Given the description of an element on the screen output the (x, y) to click on. 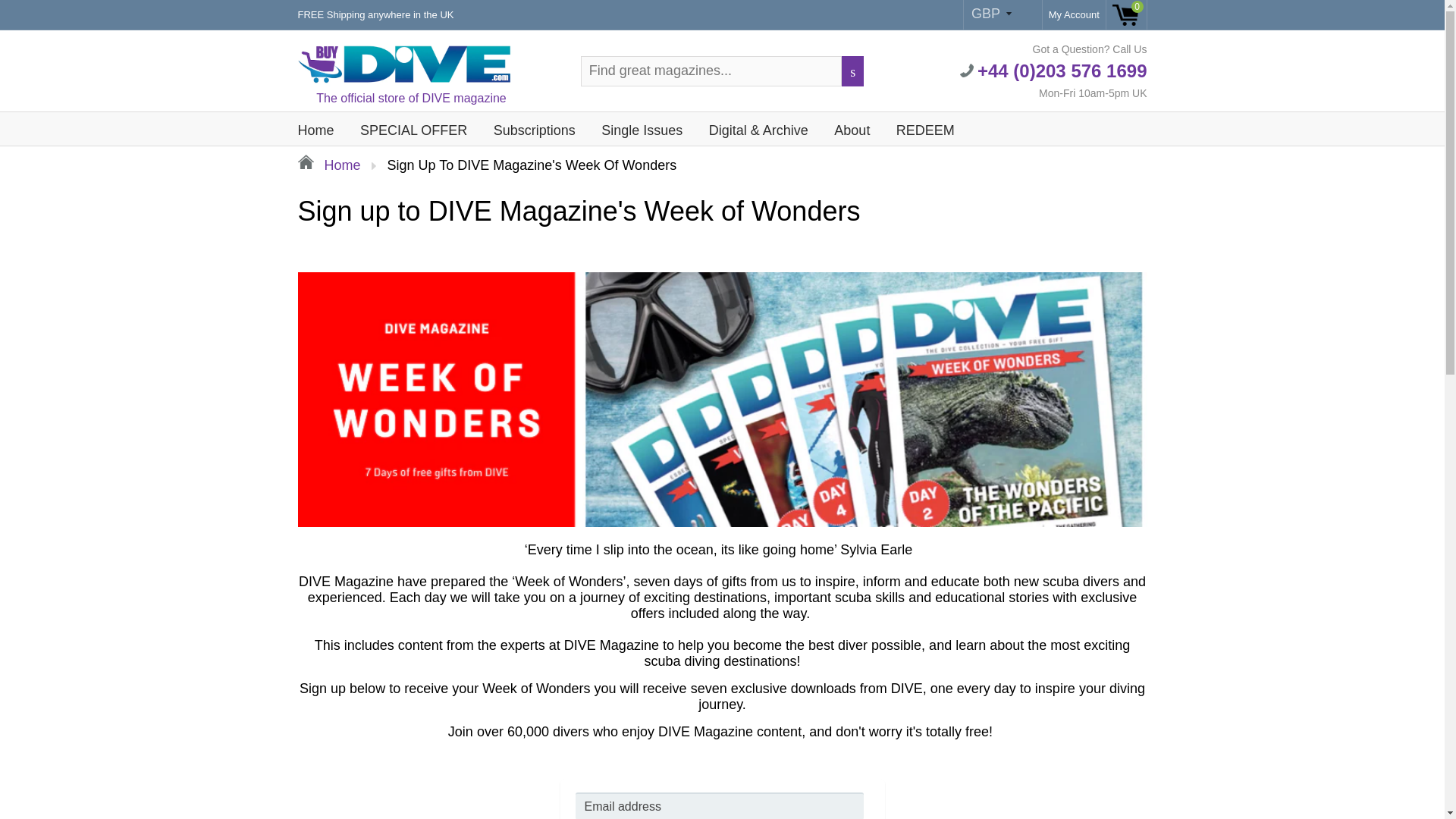
Home (316, 126)
REDEEM (925, 126)
FREE Shipping anywhere in the UK (374, 15)
About (851, 126)
Email address (719, 805)
SPECIAL OFFER (414, 126)
Single Issues (641, 126)
0 (1126, 15)
Subscriptions (533, 126)
Back to the home page (328, 165)
My Account (1073, 15)
 Home (328, 165)
